Given the description of an element on the screen output the (x, y) to click on. 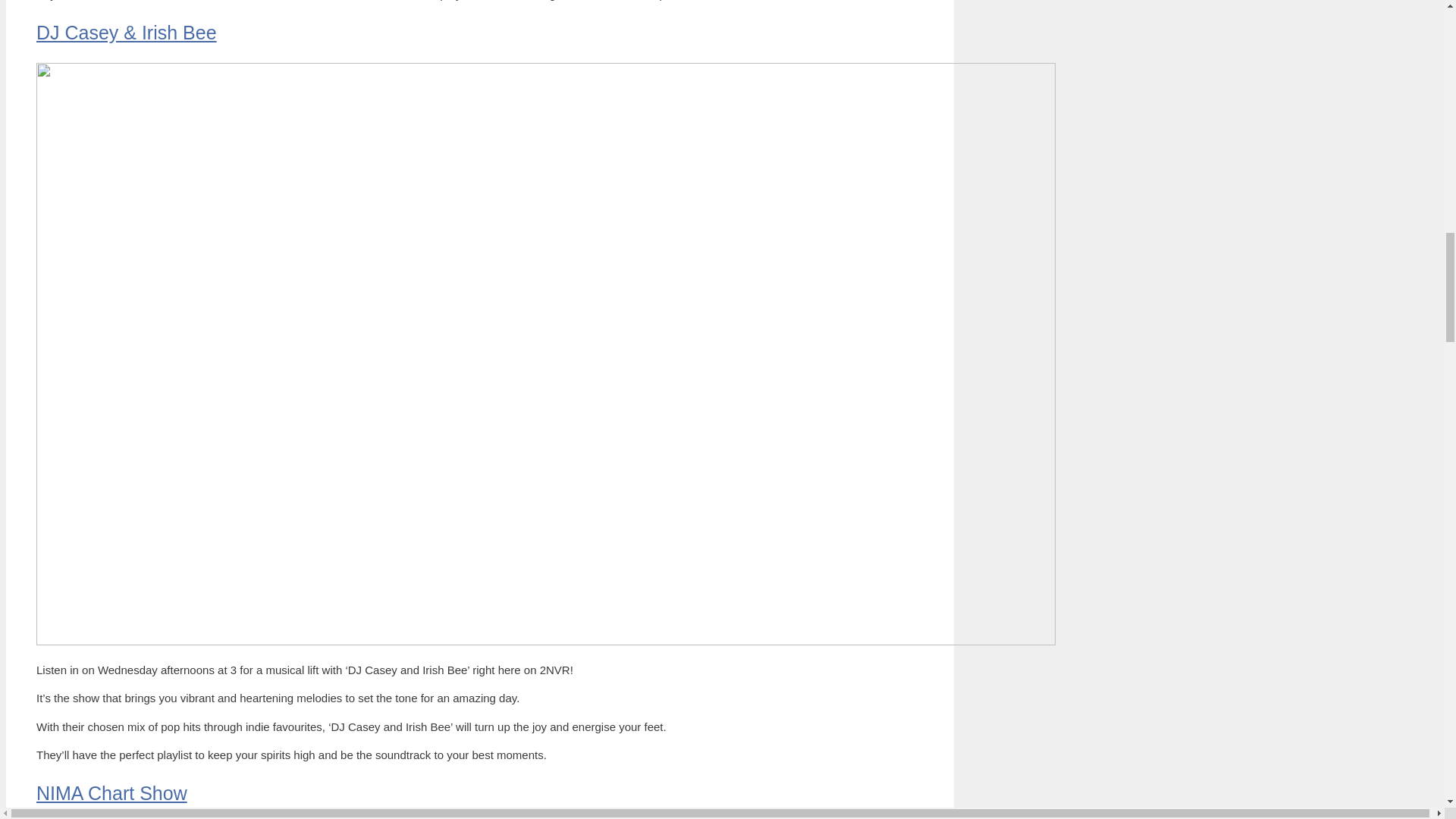
NIMA Chart Show (111, 792)
